Given the description of an element on the screen output the (x, y) to click on. 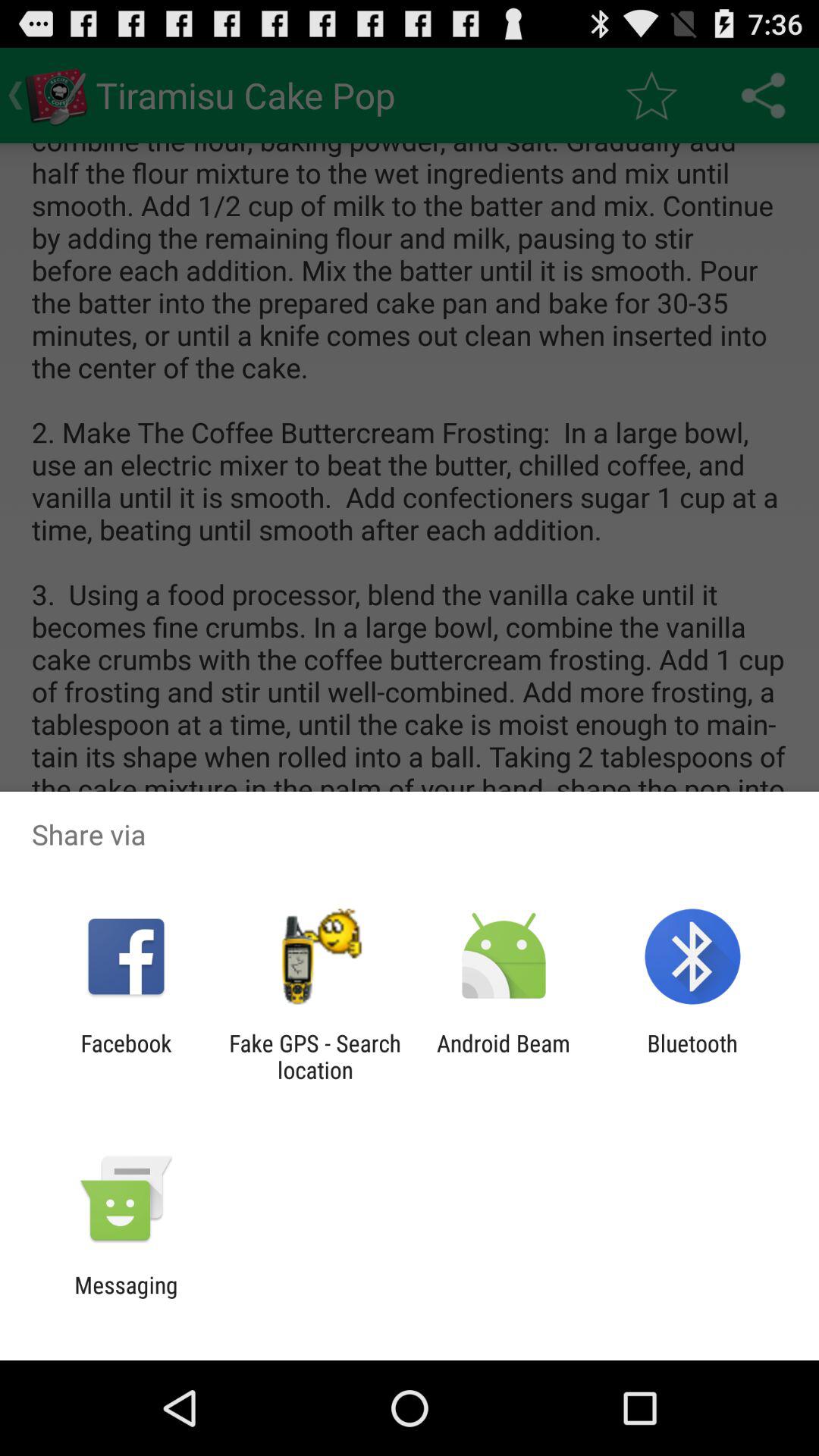
turn on app to the right of the android beam (692, 1056)
